Given the description of an element on the screen output the (x, y) to click on. 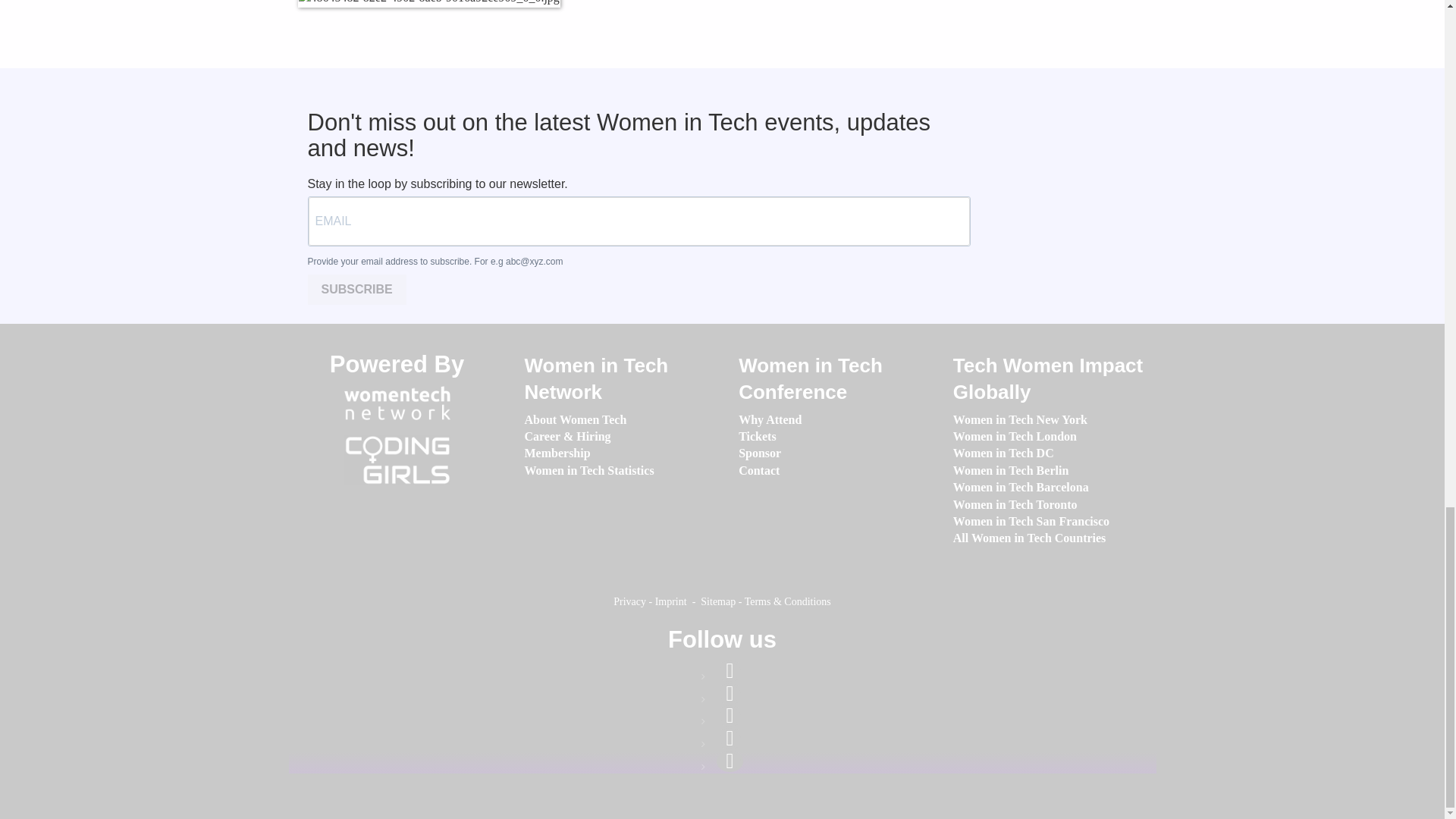
Coding Girls (396, 459)
youtube (729, 761)
linkedin (729, 693)
facebook (729, 670)
twitter (729, 738)
Women in Technology (396, 402)
instagram (729, 715)
